Given the description of an element on the screen output the (x, y) to click on. 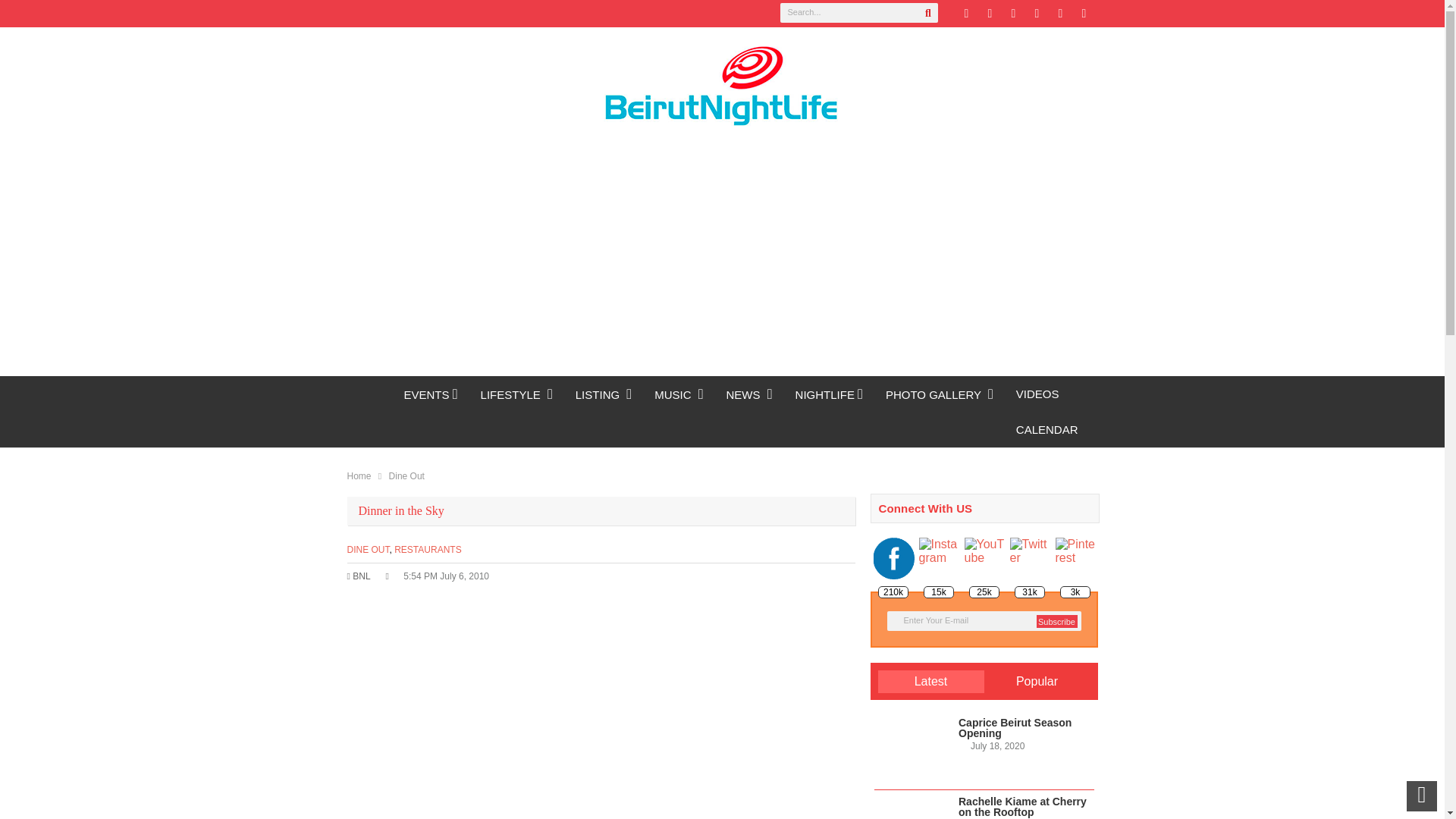
Enter Your E-mail (983, 620)
Twitter (966, 13)
Search... (857, 12)
EVENTS (430, 394)
MUSIC (678, 394)
RSS (1036, 13)
Subscribe (1056, 621)
BEIRUTNIGHTLIFE :: BEIRUT THE ONLY WAY IT SHOULD BE (370, 393)
Instagram (1060, 13)
LISTING (603, 394)
